Given the description of an element on the screen output the (x, y) to click on. 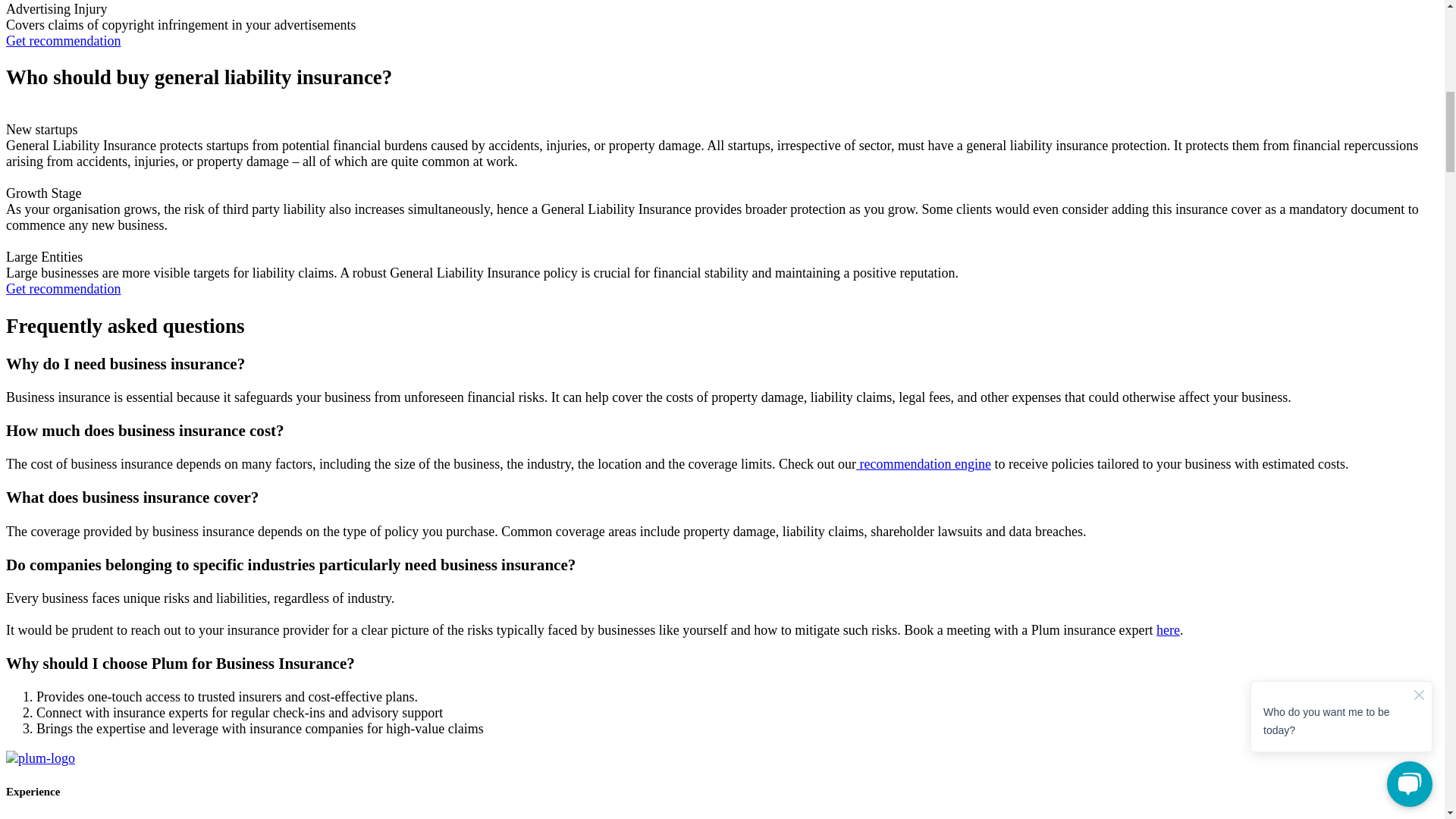
Admin (138, 818)
Get recommendation (62, 40)
recommendation engine (923, 463)
here (1167, 630)
Plum Care (34, 818)
Get recommendation (62, 288)
Employee (91, 818)
